Given the description of an element on the screen output the (x, y) to click on. 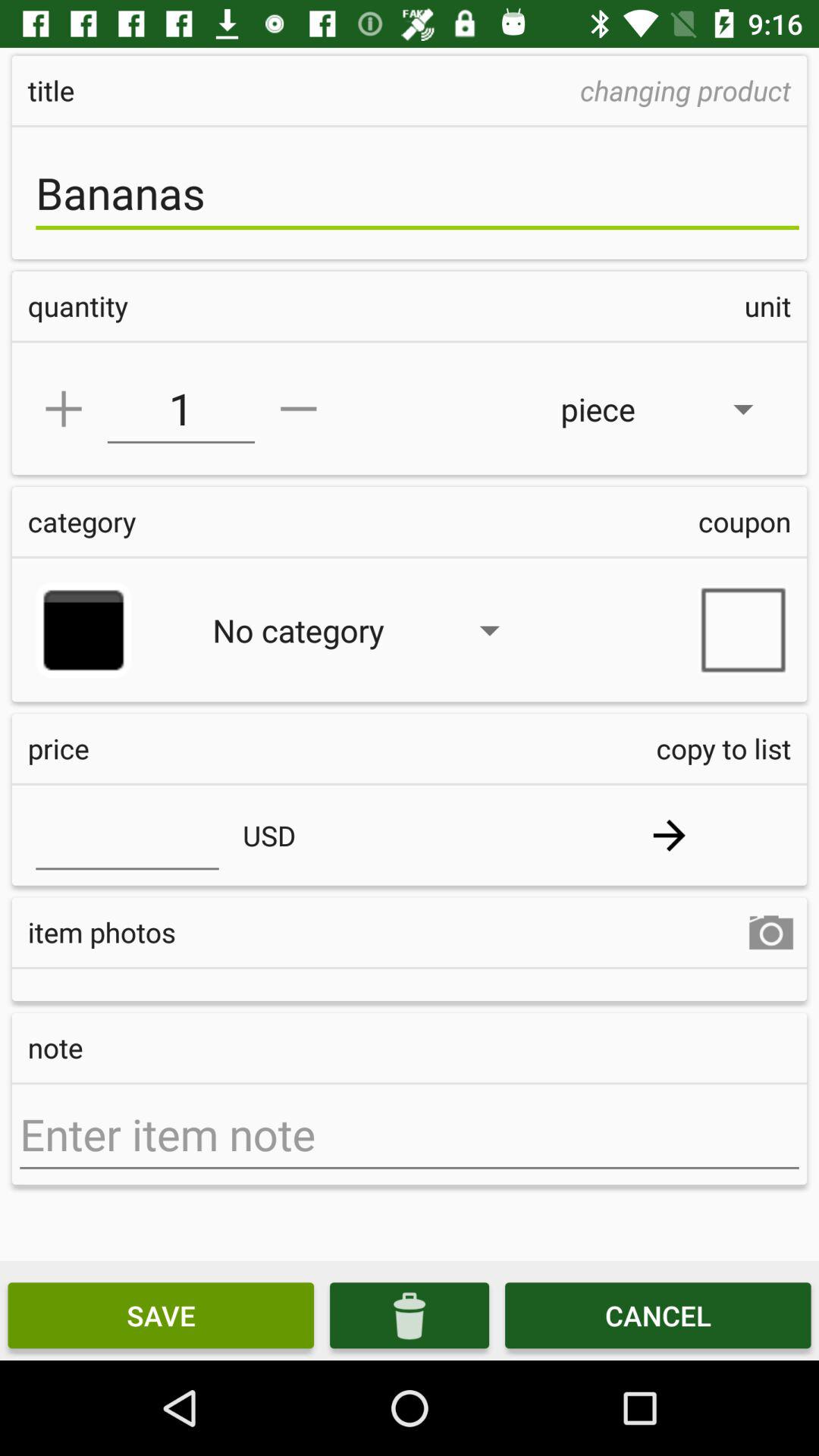
enter item note (409, 1134)
